Given the description of an element on the screen output the (x, y) to click on. 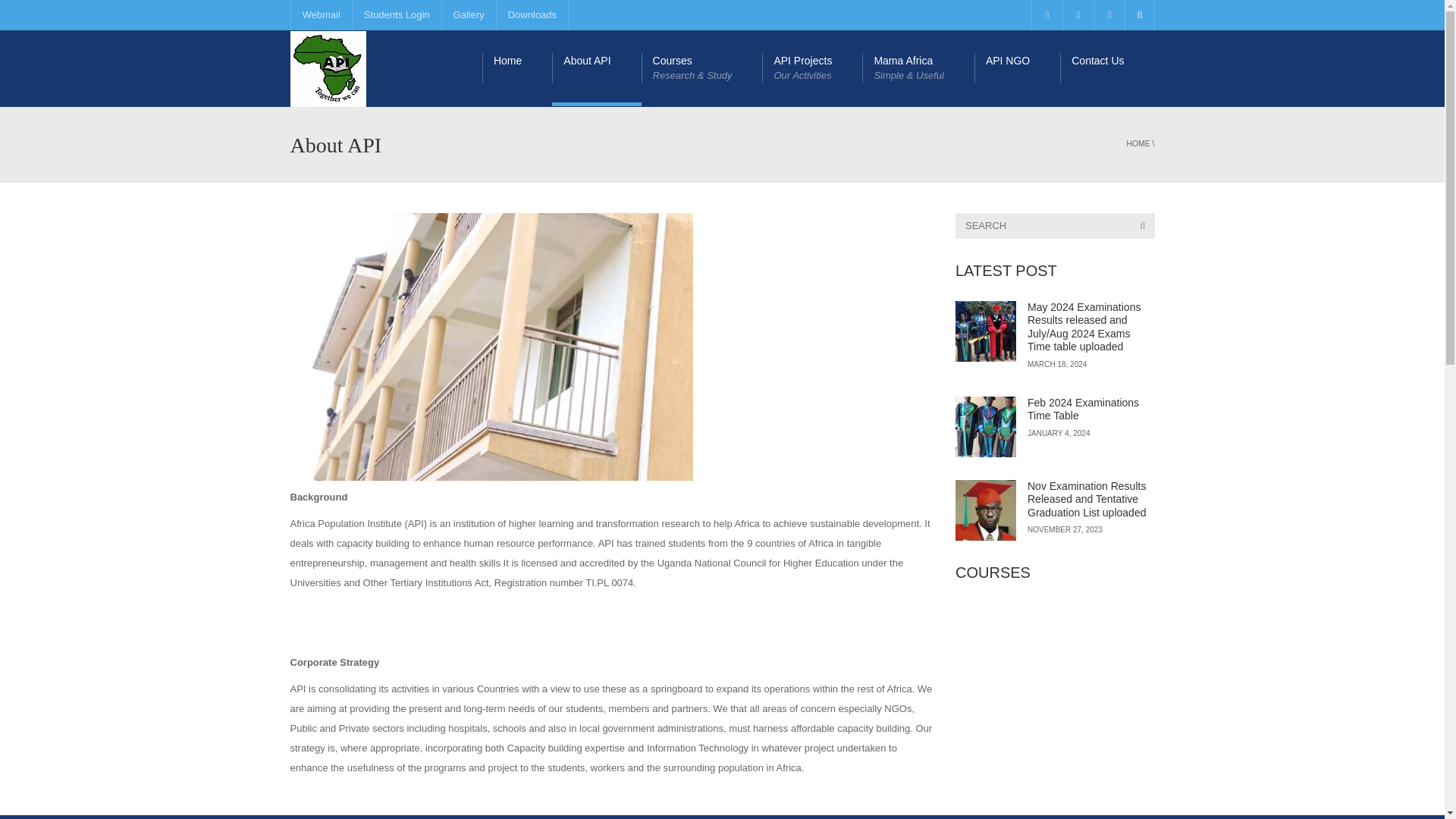
About API (595, 68)
Home (516, 68)
Webmail (319, 15)
Gallery (468, 15)
Feb 2024 Examinations Time Table (985, 426)
Feb 2024 Examinations Time Table (1082, 409)
Downloads (532, 15)
Students Login (396, 15)
